Given the description of an element on the screen output the (x, y) to click on. 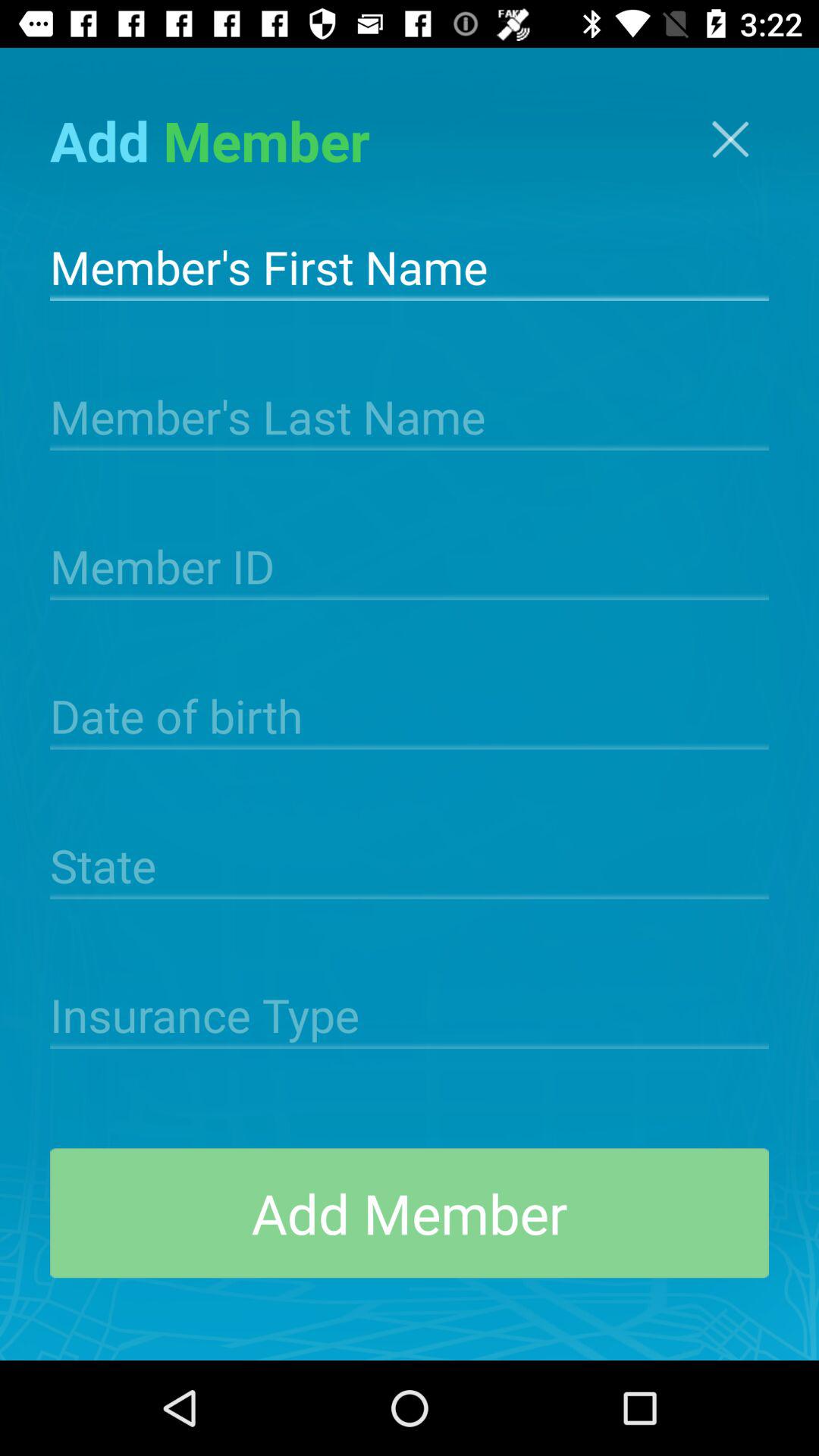
choose the item next to the add member icon (730, 139)
